Given the description of an element on the screen output the (x, y) to click on. 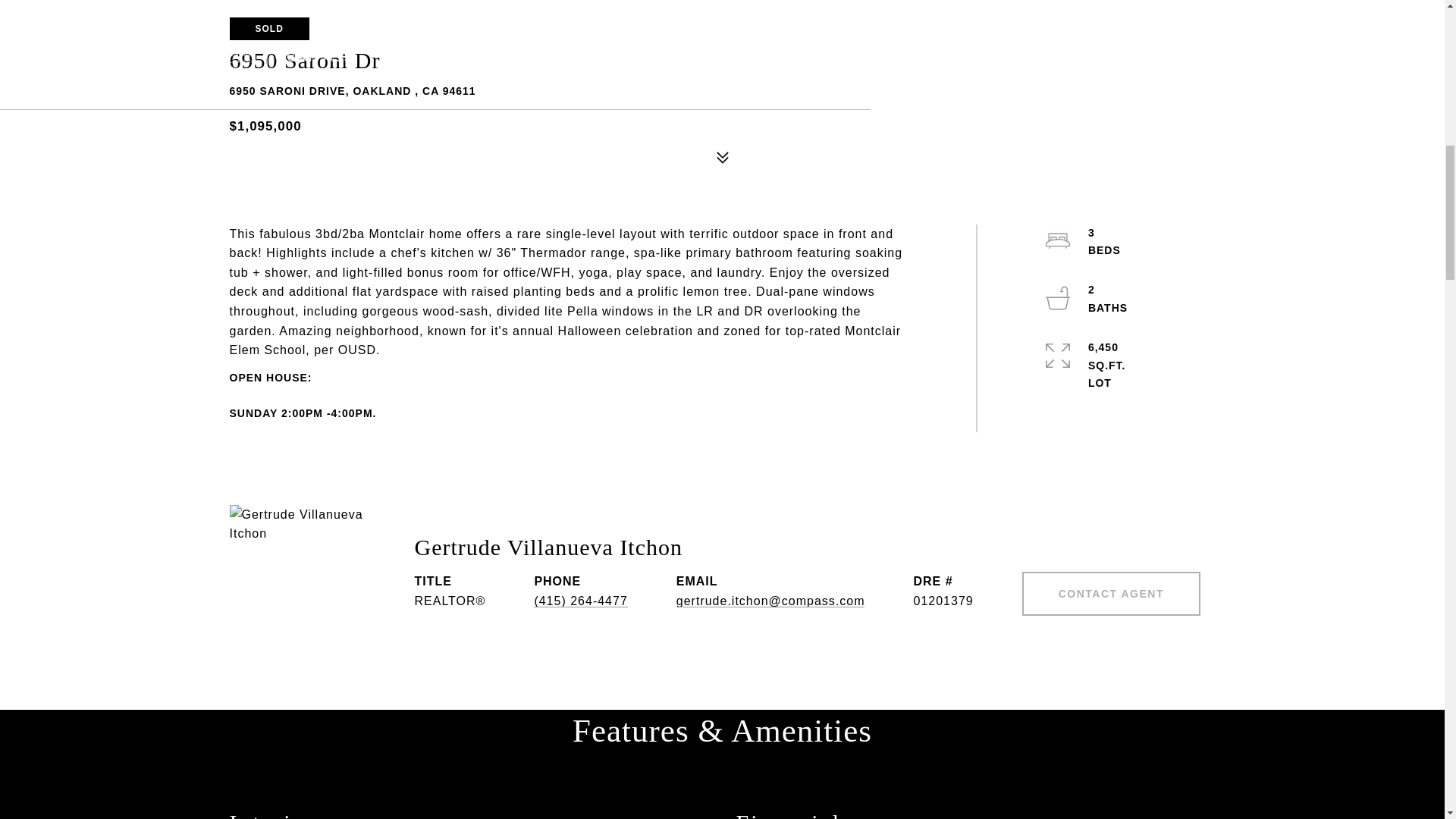
CONTACT AGENT (1110, 593)
